Given the description of an element on the screen output the (x, y) to click on. 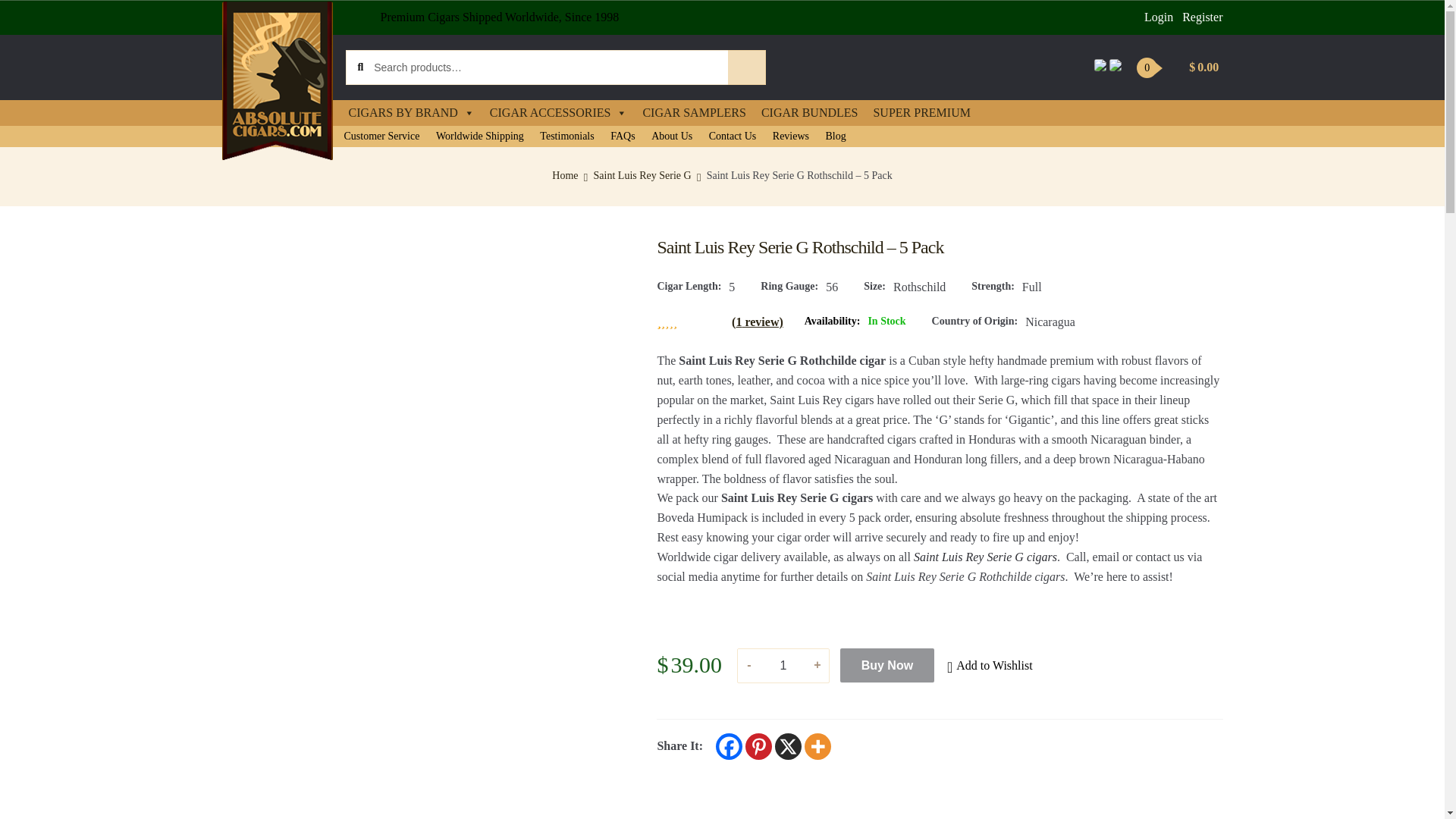
 Register (1202, 16)
View your shopping cart (1180, 67)
Register (1202, 16)
Search (746, 67)
CIGARS BY BRAND (410, 112)
Login (1158, 16)
1 (783, 665)
Qty (783, 665)
Login (1158, 16)
